Given the description of an element on the screen output the (x, y) to click on. 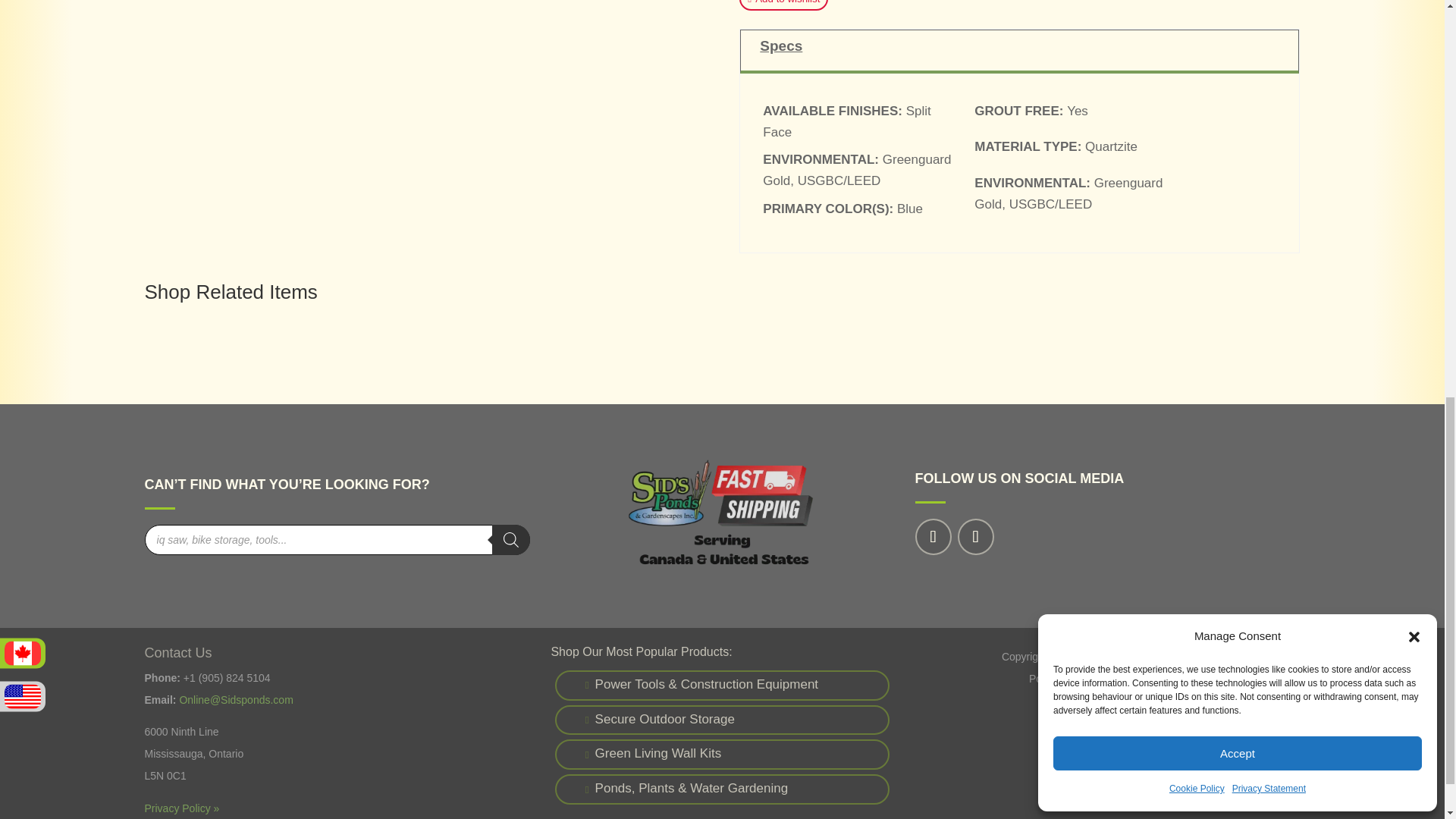
Follow on Facebook (932, 536)
Sids-Ponds---Transparent-Fast-shipping-min (721, 514)
Follow on Instagram (974, 536)
